Given the description of an element on the screen output the (x, y) to click on. 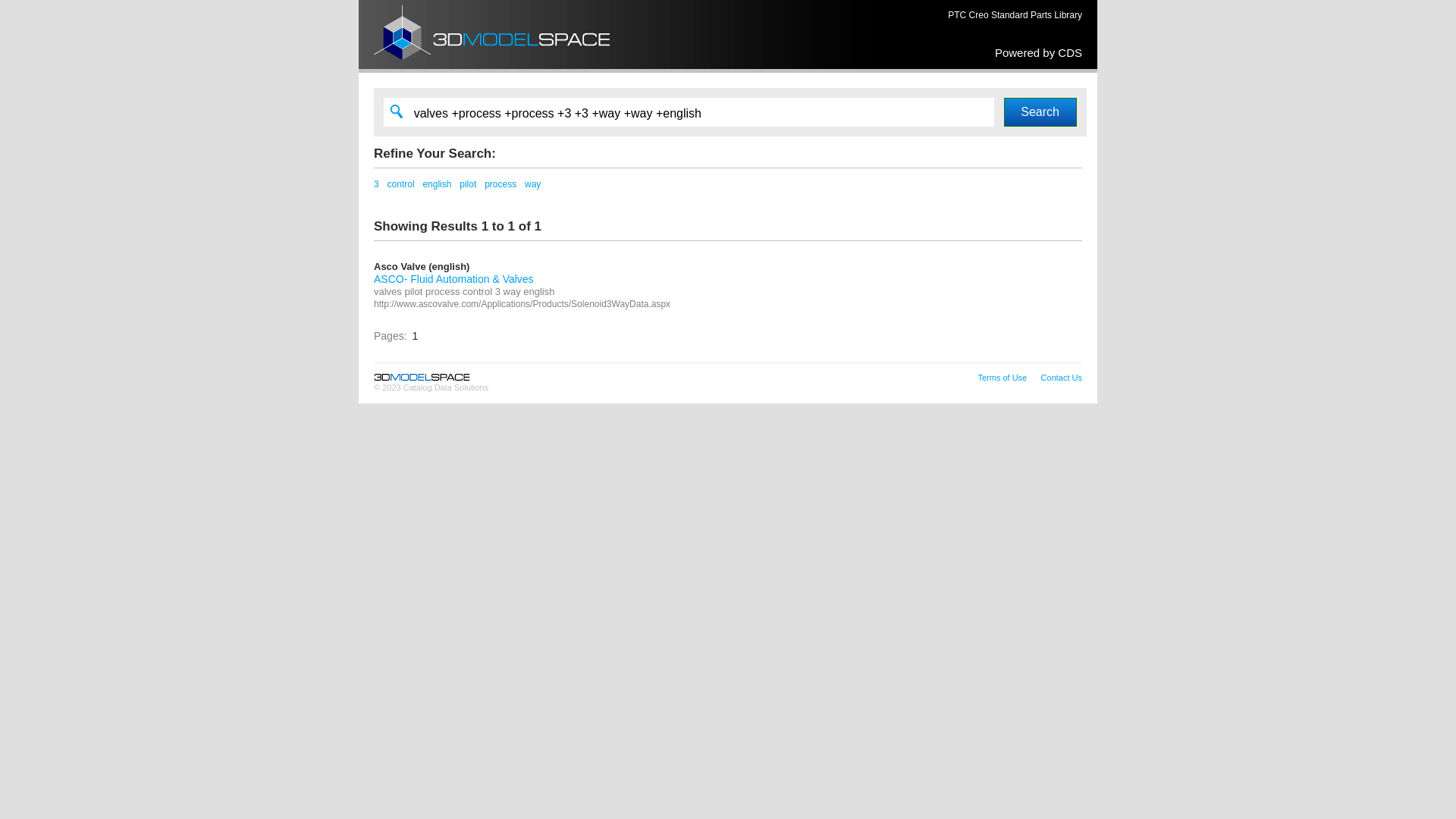
Search Element type: text (1040, 111)
PTC Creo Standard Parts Library Element type: text (1014, 14)
Terms of Use Element type: text (1001, 377)
control Element type: text (400, 183)
Powered by CDS Element type: text (1038, 52)
pilot Element type: text (467, 183)
Contact Us Element type: text (1061, 377)
english Element type: text (436, 183)
3 Element type: text (376, 183)
way Element type: text (532, 183)
ASCO- Fluid Automation & Valves Element type: text (453, 279)
process Element type: text (500, 183)
